Given the description of an element on the screen output the (x, y) to click on. 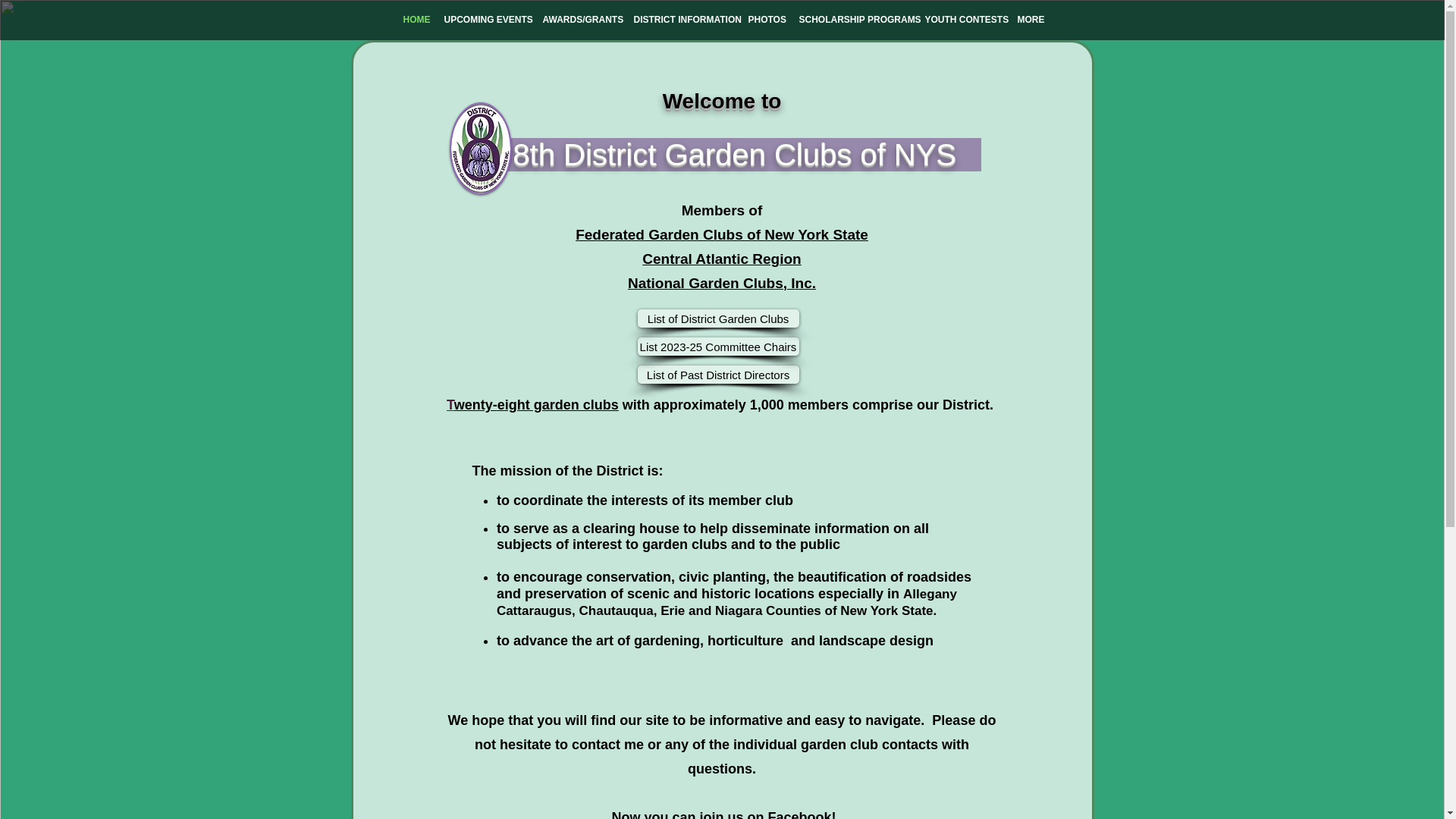
wenty- (475, 404)
HOME (416, 19)
YOUTH CONTESTS (963, 19)
eight garden clubs (557, 404)
Federated Garden Clubs of New York State (721, 234)
Central Atlantic Region (721, 258)
National Garden Clubs, Inc. (721, 280)
